Given the description of an element on the screen output the (x, y) to click on. 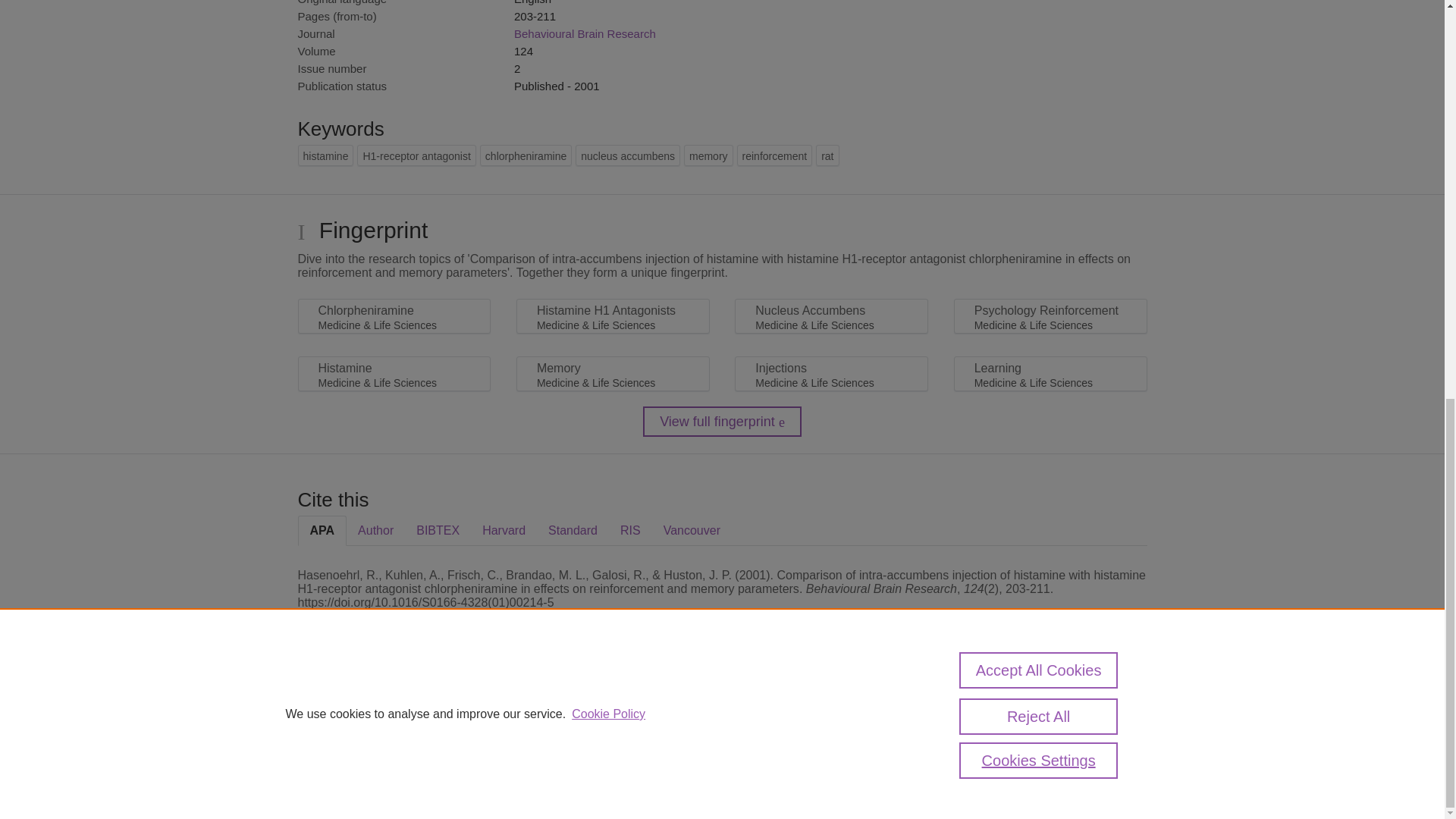
use of cookies (796, 760)
View full fingerprint (722, 421)
Scopus (394, 708)
Report vulnerability (1020, 745)
Pure (362, 708)
Contact us (1122, 713)
Cookies Settings (1038, 1)
Cookies Settings (334, 781)
About web accessibility (1020, 713)
Behavioural Brain Research (584, 33)
Elsevier B.V. (506, 728)
